Given the description of an element on the screen output the (x, y) to click on. 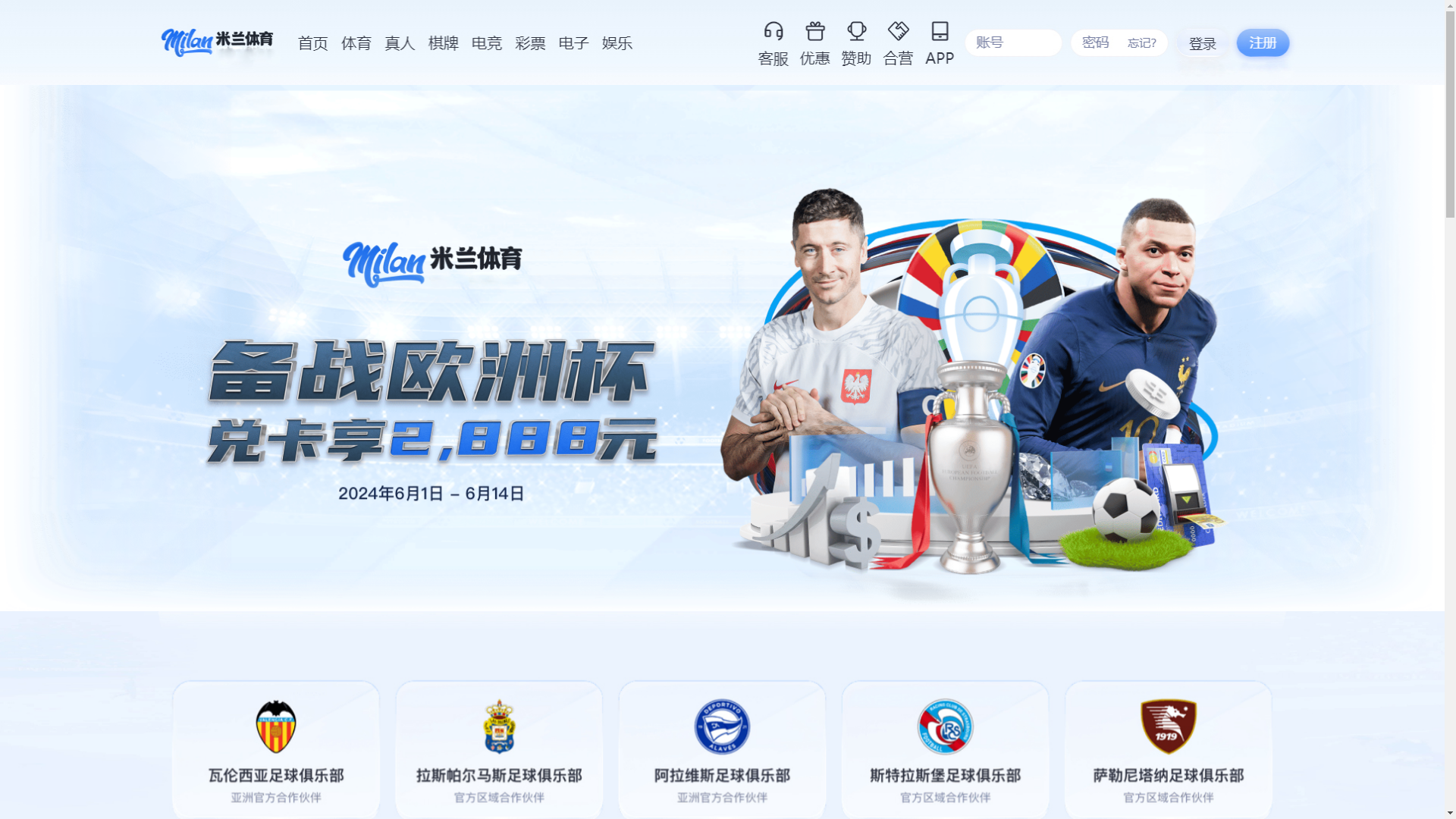
Schedule Demo (1214, 31)
Solutions (352, 84)
